Given the description of an element on the screen output the (x, y) to click on. 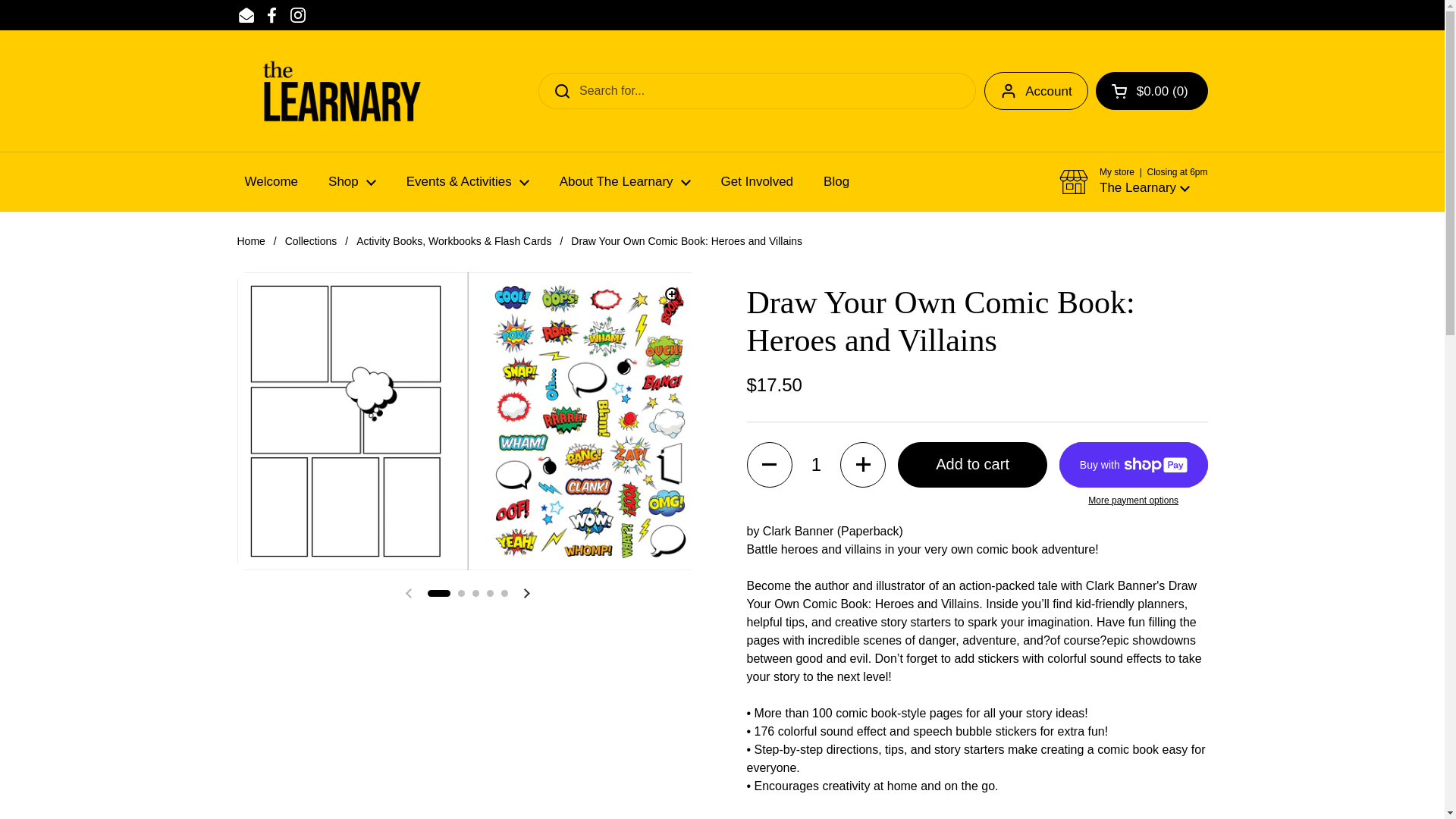
Welcome (270, 181)
Email (244, 14)
Open cart (1152, 90)
Account (1035, 90)
1 (815, 464)
Instagram (296, 14)
Shop (352, 181)
Facebook (271, 14)
The Learnary (340, 90)
